Given the description of an element on the screen output the (x, y) to click on. 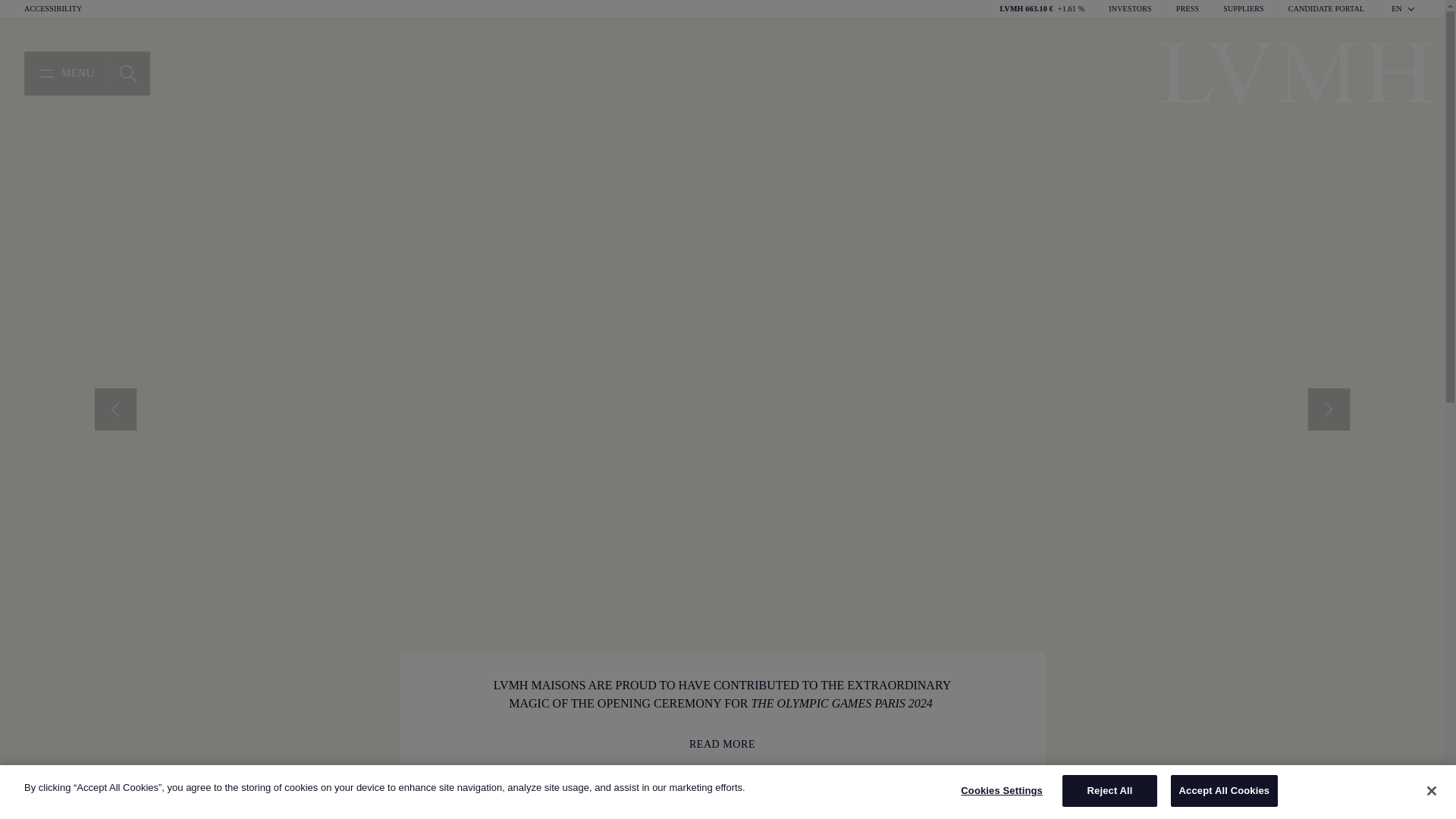
SEARCH (127, 73)
MENU (86, 73)
SEARCH (65, 73)
LVMH Homepage (127, 73)
SEARCH (1405, 9)
ACCESSIBILITY (1295, 73)
PRESS (127, 73)
INVESTORS (53, 9)
SUPPLIERS (1187, 9)
MENU (1129, 9)
CANDIDATE PORTAL (1243, 9)
